Given the description of an element on the screen output the (x, y) to click on. 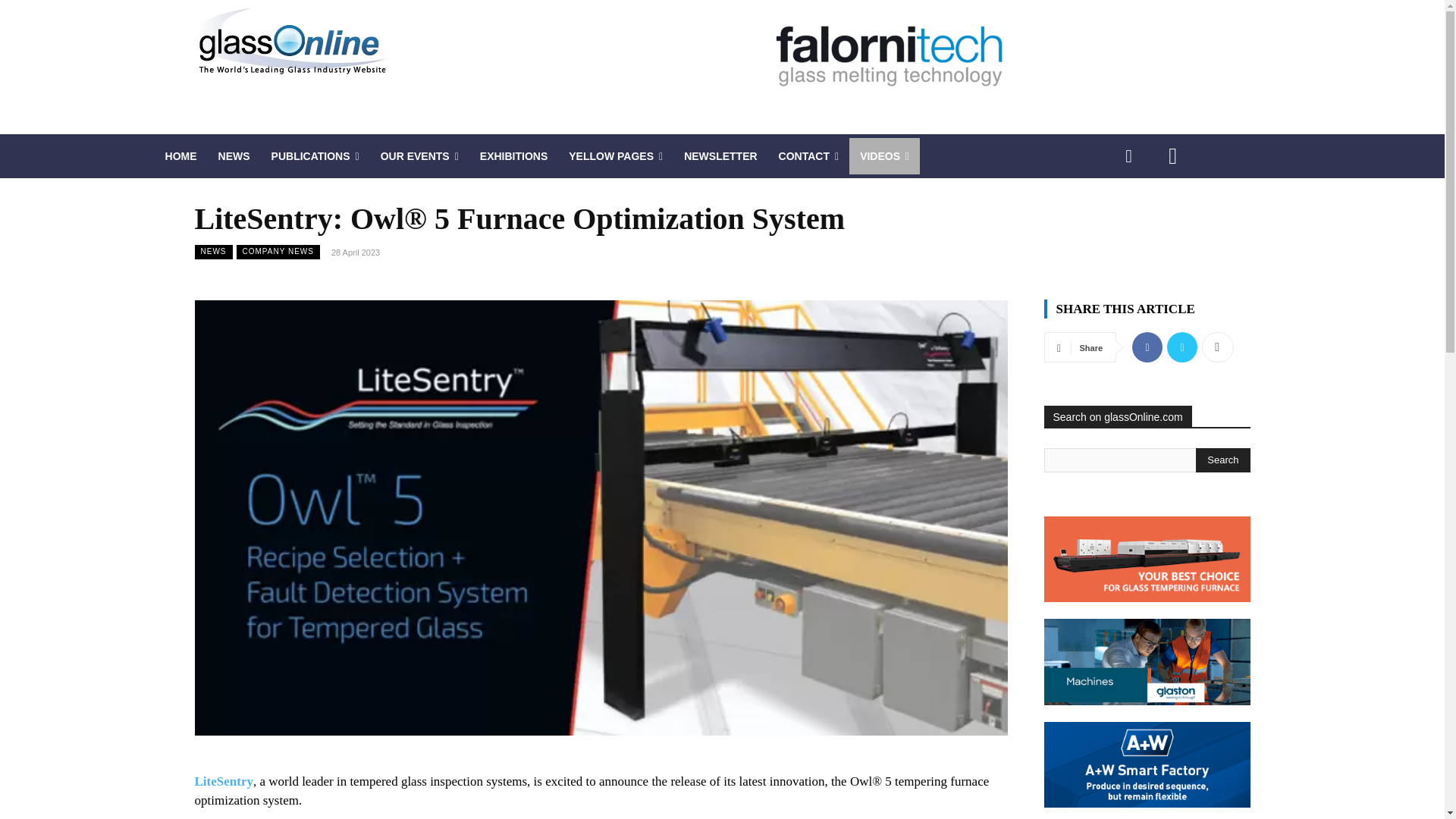
Youtube (1172, 156)
Search (1222, 459)
Linkedin (1128, 156)
